Given the description of an element on the screen output the (x, y) to click on. 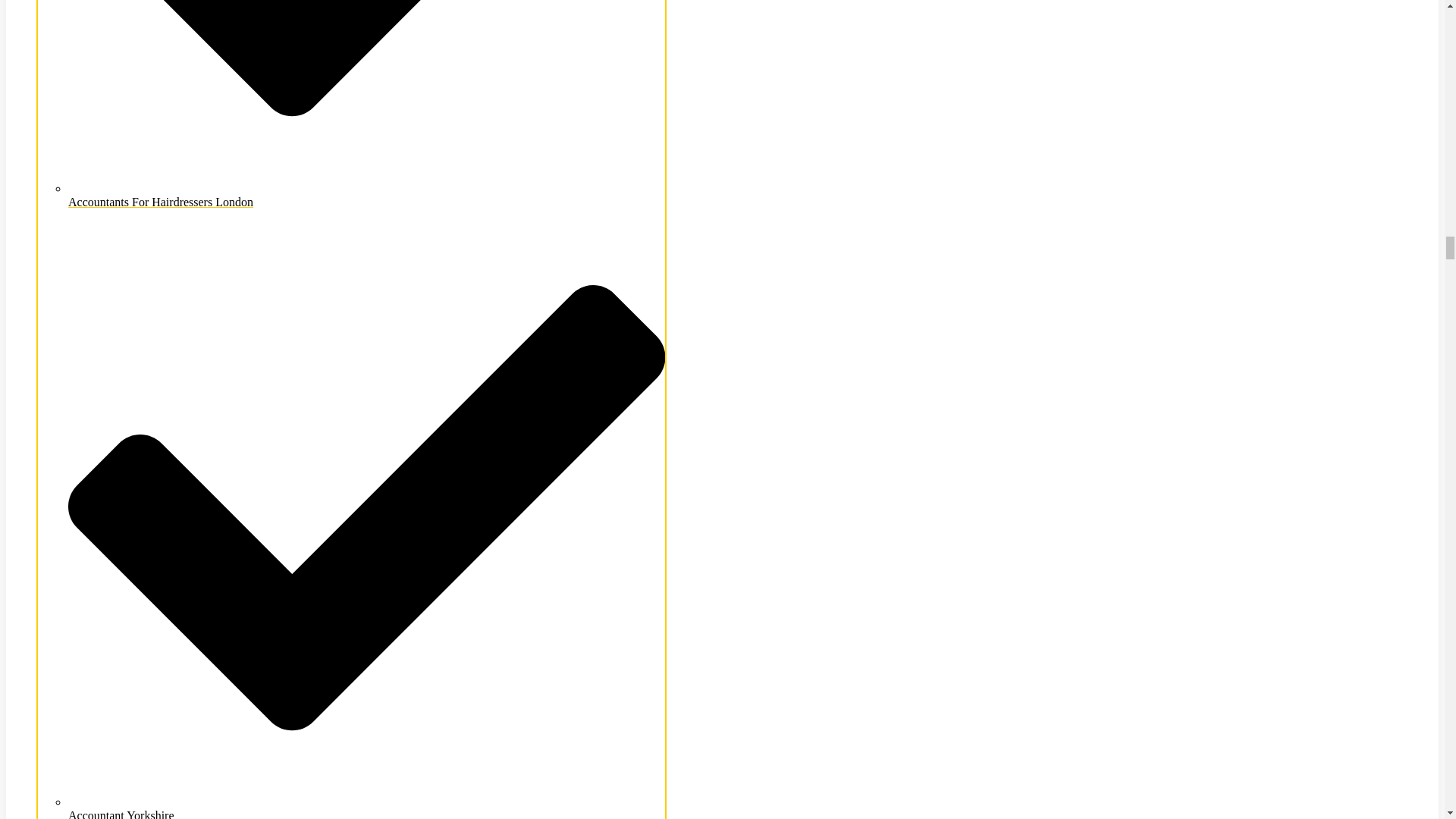
Accountants For Hairdressers London (366, 194)
Accountant Yorkshire (366, 807)
